Given the description of an element on the screen output the (x, y) to click on. 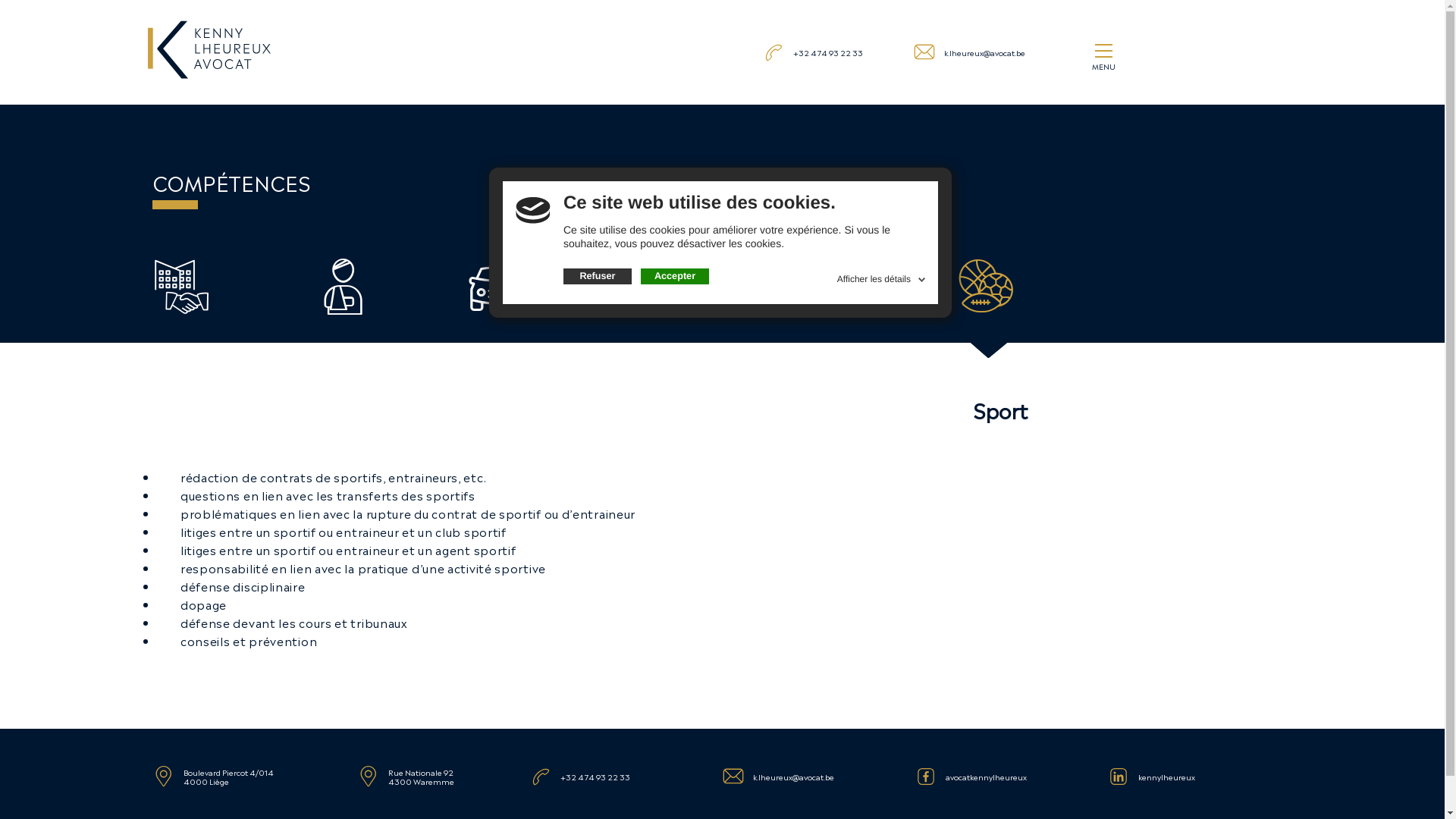
Refuser Element type: text (597, 276)
k.lheureux@avocat.be Element type: text (793, 775)
Accepter Element type: text (674, 276)
Rue Nationale 92
4300 Waremme Element type: text (421, 775)
kennylheureux Element type: text (1166, 775)
+32 474 93 22 33 Element type: text (827, 51)
k.lheureux@avocat.be Element type: text (984, 51)
avocatkennylheureux Element type: text (985, 775)
+32 474 93 22 33 Element type: text (595, 775)
